Given the description of an element on the screen output the (x, y) to click on. 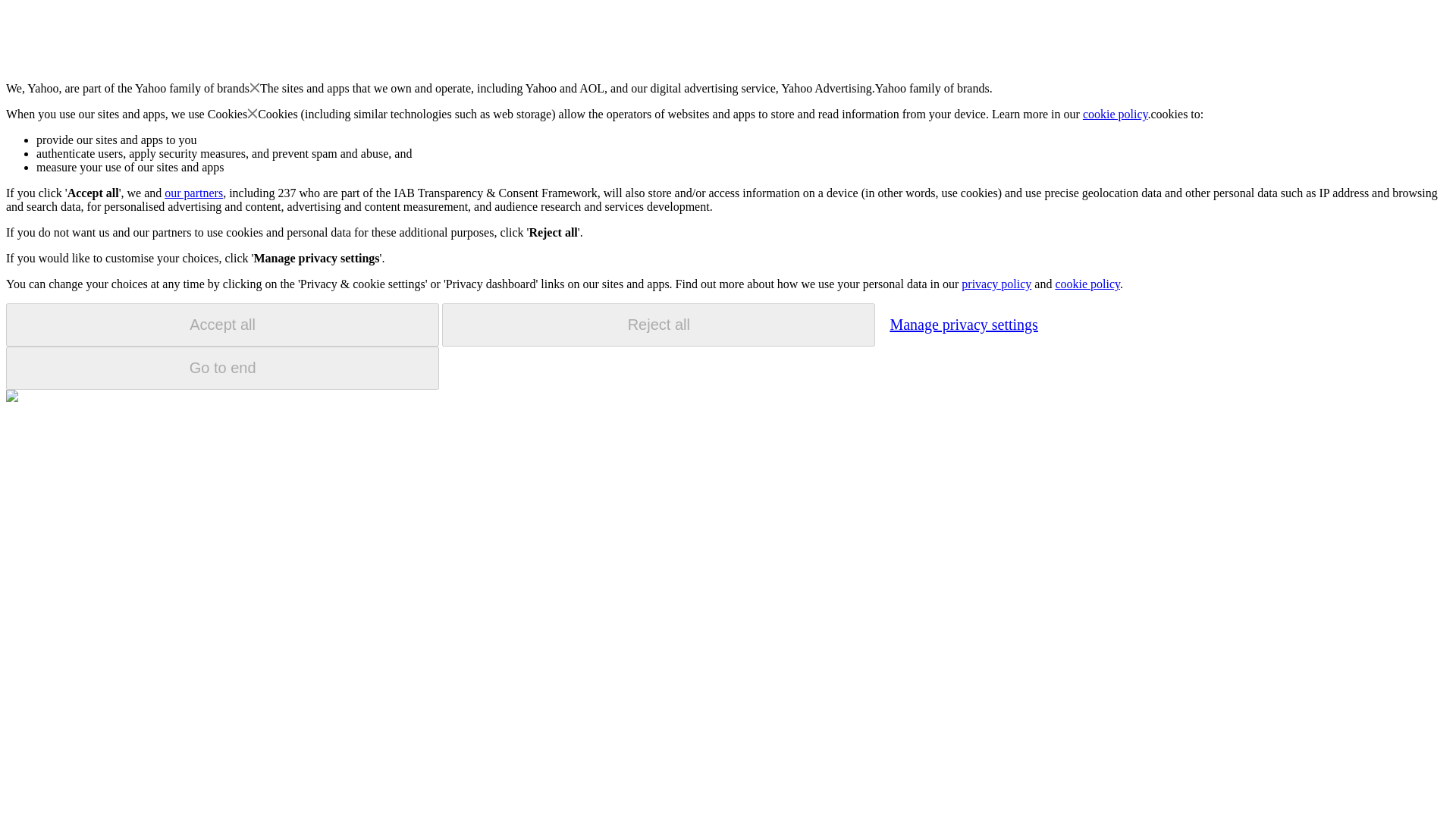
privacy policy (995, 283)
cookie policy (1086, 283)
cookie policy (1115, 113)
Reject all (658, 324)
Accept all (222, 324)
our partners (193, 192)
Manage privacy settings (963, 323)
Go to end (222, 367)
